Given the description of an element on the screen output the (x, y) to click on. 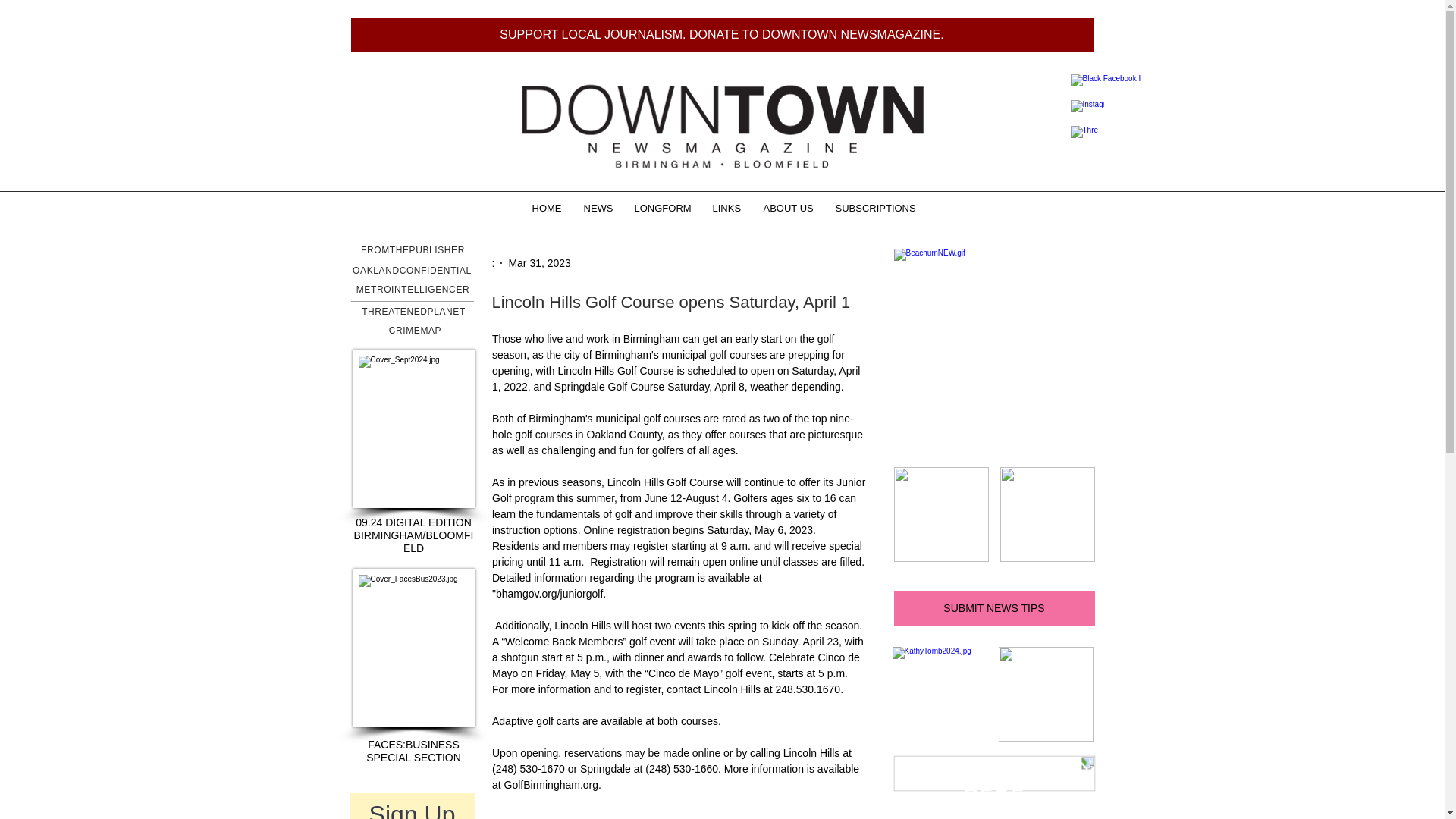
Mar 31, 2023 (539, 262)
HOME (545, 208)
SUPPORT LOCAL JOURNALISM. DONATE TO DOWNTOWN NEWSMAGAZINE. (721, 35)
SUBSCRIPTIONS (873, 208)
LONGFORM (662, 208)
